Given the description of an element on the screen output the (x, y) to click on. 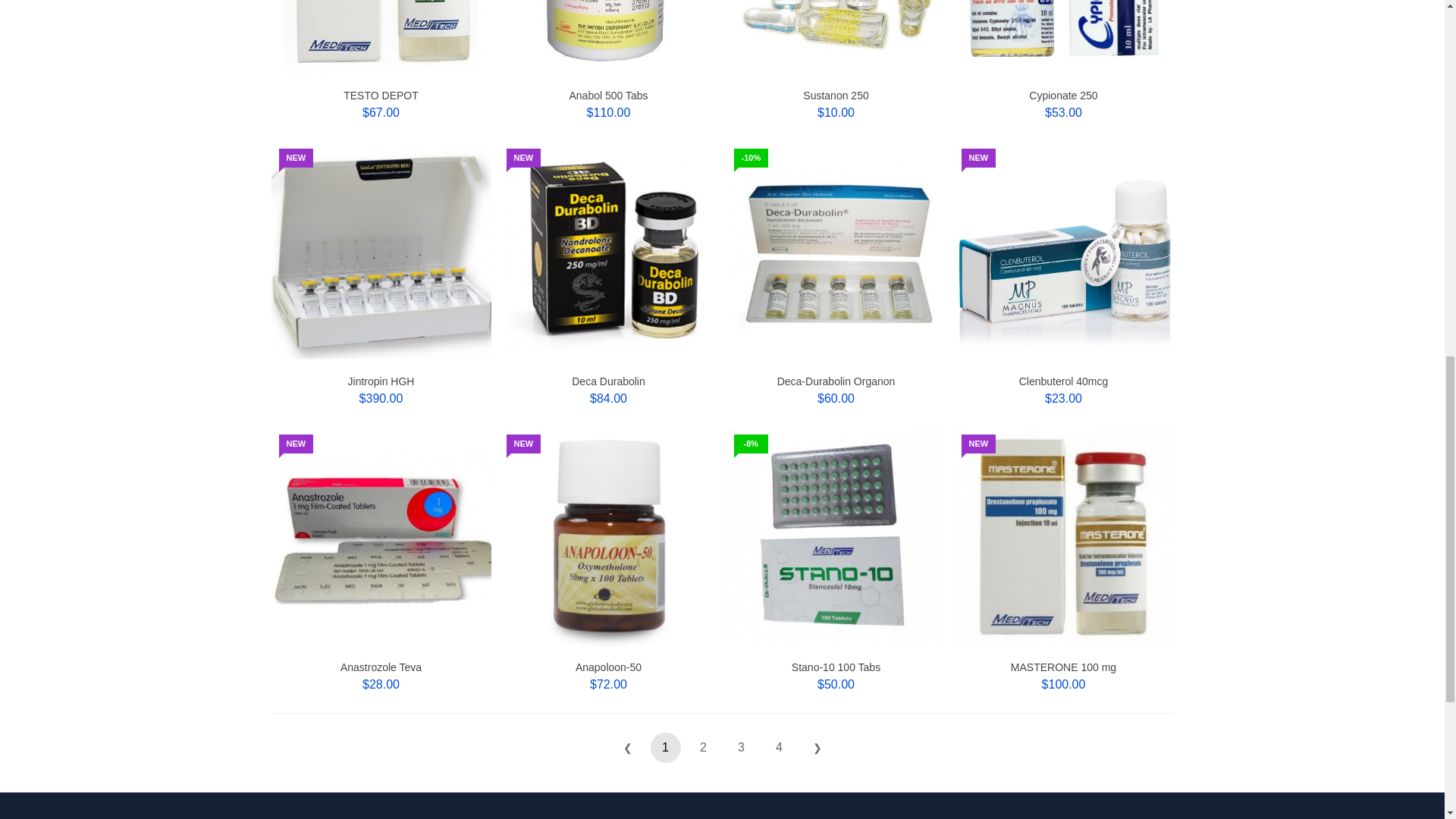
Cypionate 250 (1063, 95)
TESTO DEPOT (381, 95)
Sustanon 250 (835, 95)
Anabol 500 Tabs (608, 95)
previous page (627, 747)
next page (817, 747)
